Given the description of an element on the screen output the (x, y) to click on. 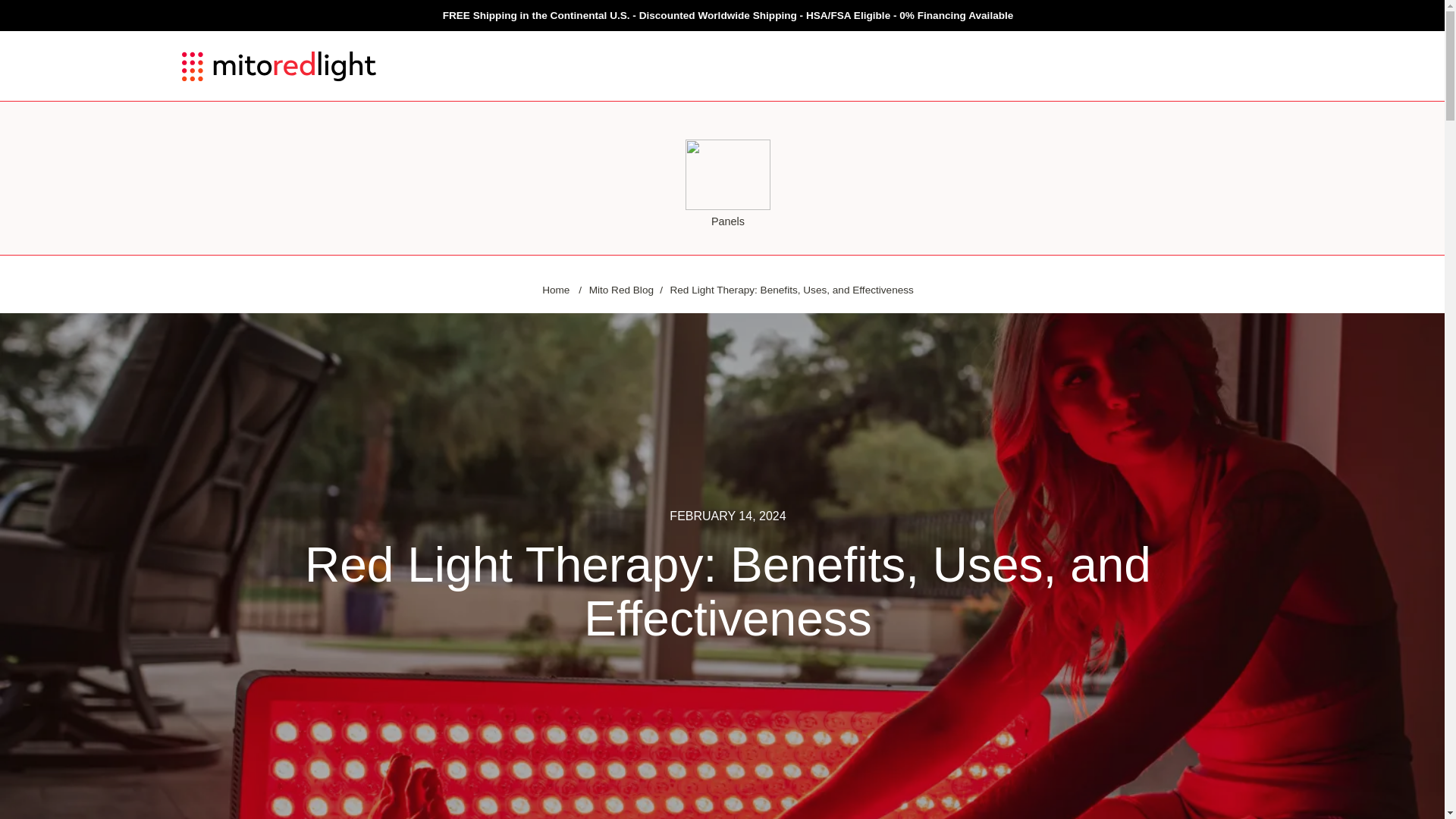
Home (555, 289)
All collections (622, 15)
Red Light Therapy: Benefits, Uses, and Effectiveness (790, 289)
Home (555, 289)
Mito Red Blog (621, 289)
